Given the description of an element on the screen output the (x, y) to click on. 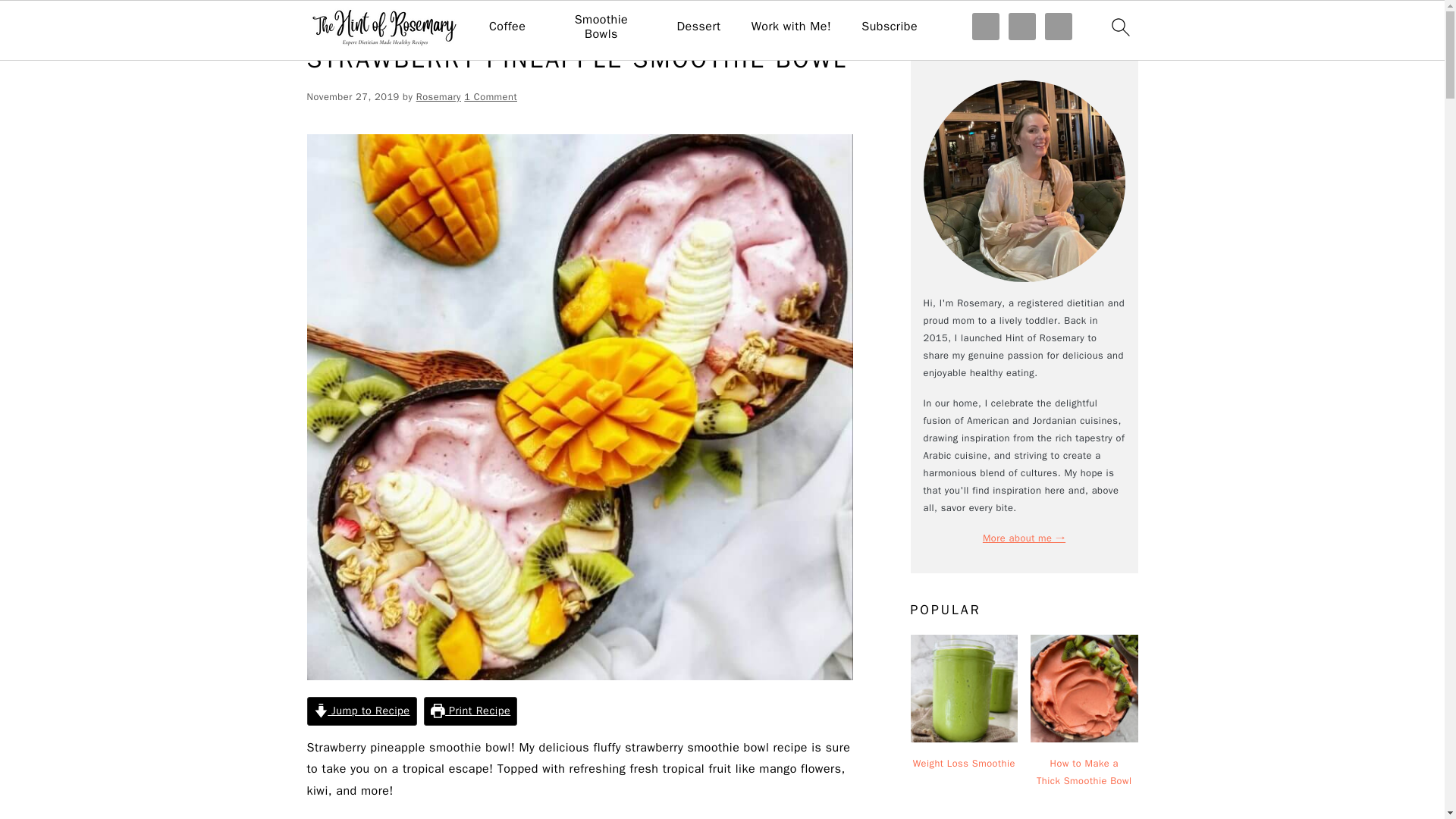
Subscribe (889, 26)
Work with Me! (791, 26)
Coffee (507, 26)
Smoothie Bowls (601, 27)
search icon (1119, 26)
Dessert (698, 26)
